Given the description of an element on the screen output the (x, y) to click on. 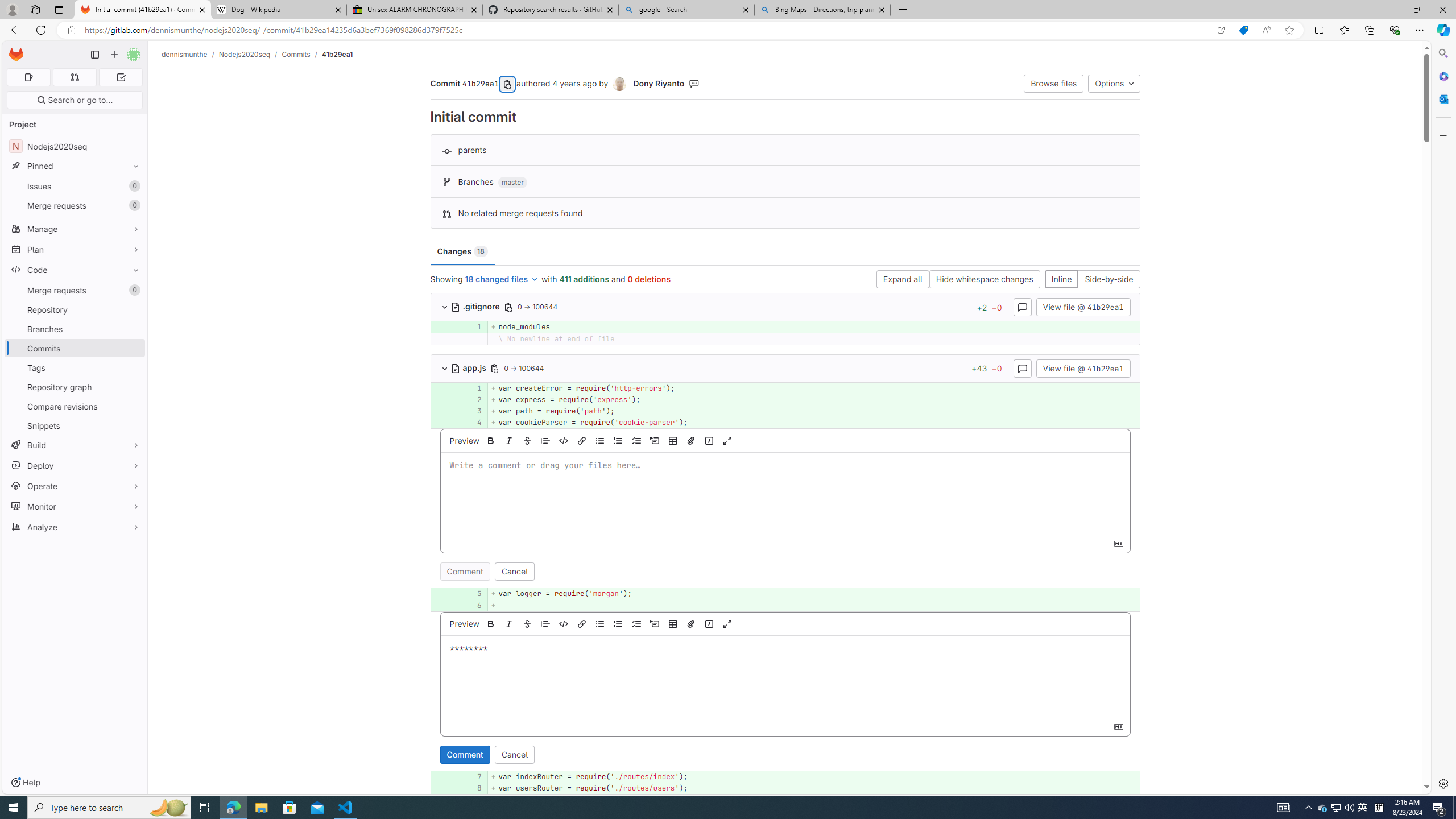
5 (472, 594)
Compare revisions (74, 406)
Unpin Merge requests (132, 290)
Insert code (563, 623)
Commits (74, 348)
Add a checklist (635, 623)
Add a table (672, 623)
7 (472, 776)
Add a comment to this line (430, 788)
